Given the description of an element on the screen output the (x, y) to click on. 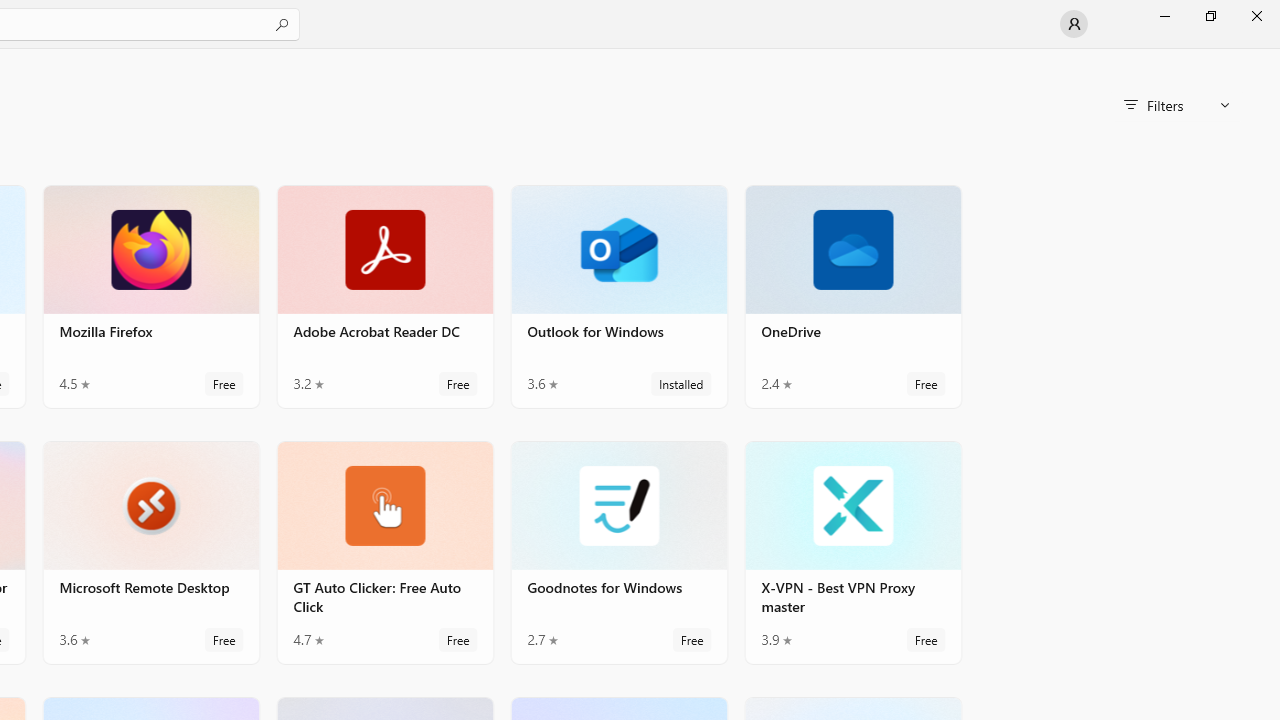
Filters (1176, 105)
OneDrive. Average rating of 2.4 out of five stars. Free   (852, 296)
